Given the description of an element on the screen output the (x, y) to click on. 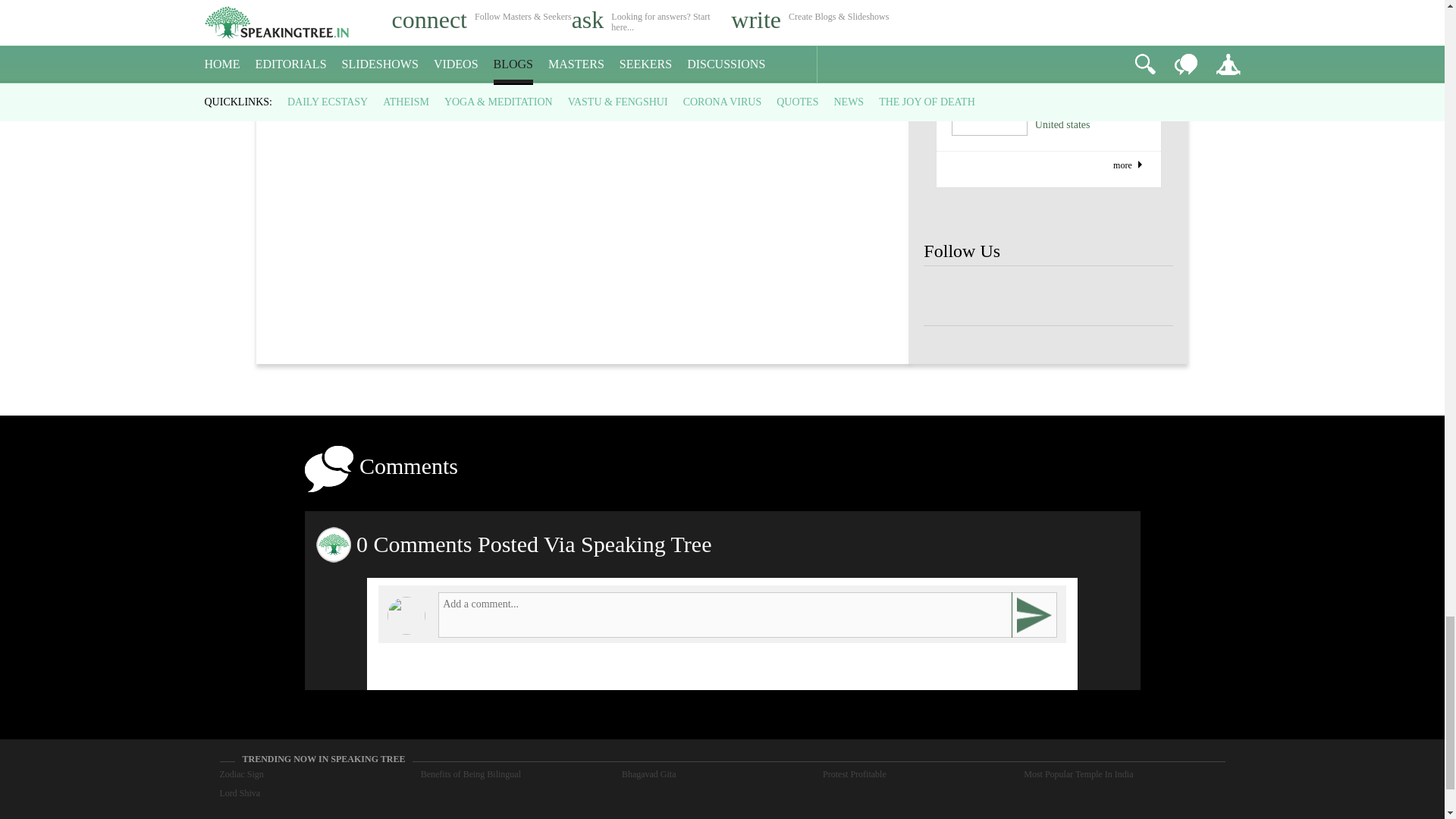
Speaking Tree FaceBook (998, 296)
Speaking Tree FaceBook (1099, 296)
Speaking Tree FaceBook (1147, 296)
Speaking Tree FaceBook (1048, 296)
Speaking Tree FaceBook (948, 296)
